Given the description of an element on the screen output the (x, y) to click on. 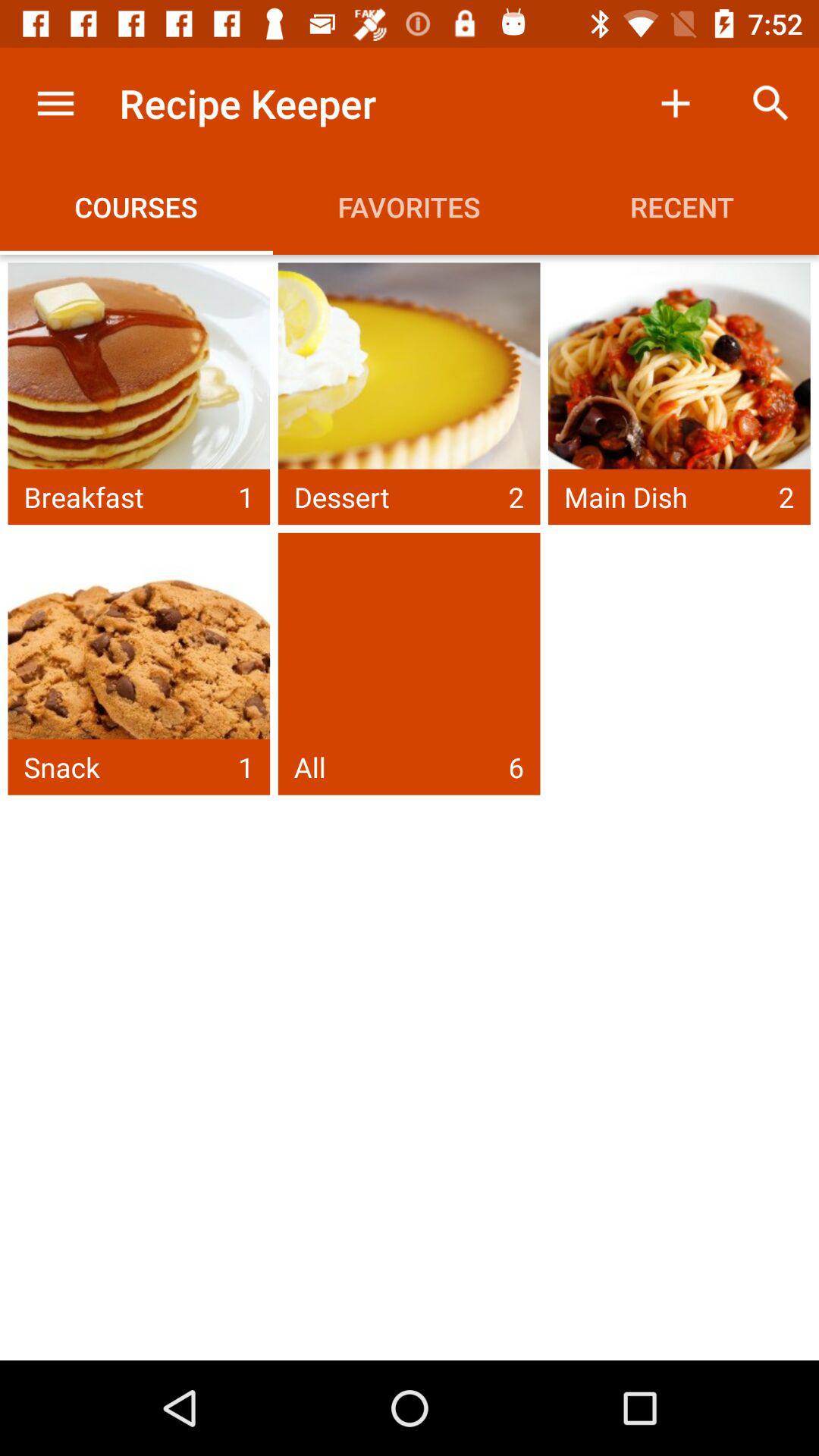
open the item next to recipe keeper icon (55, 103)
